Given the description of an element on the screen output the (x, y) to click on. 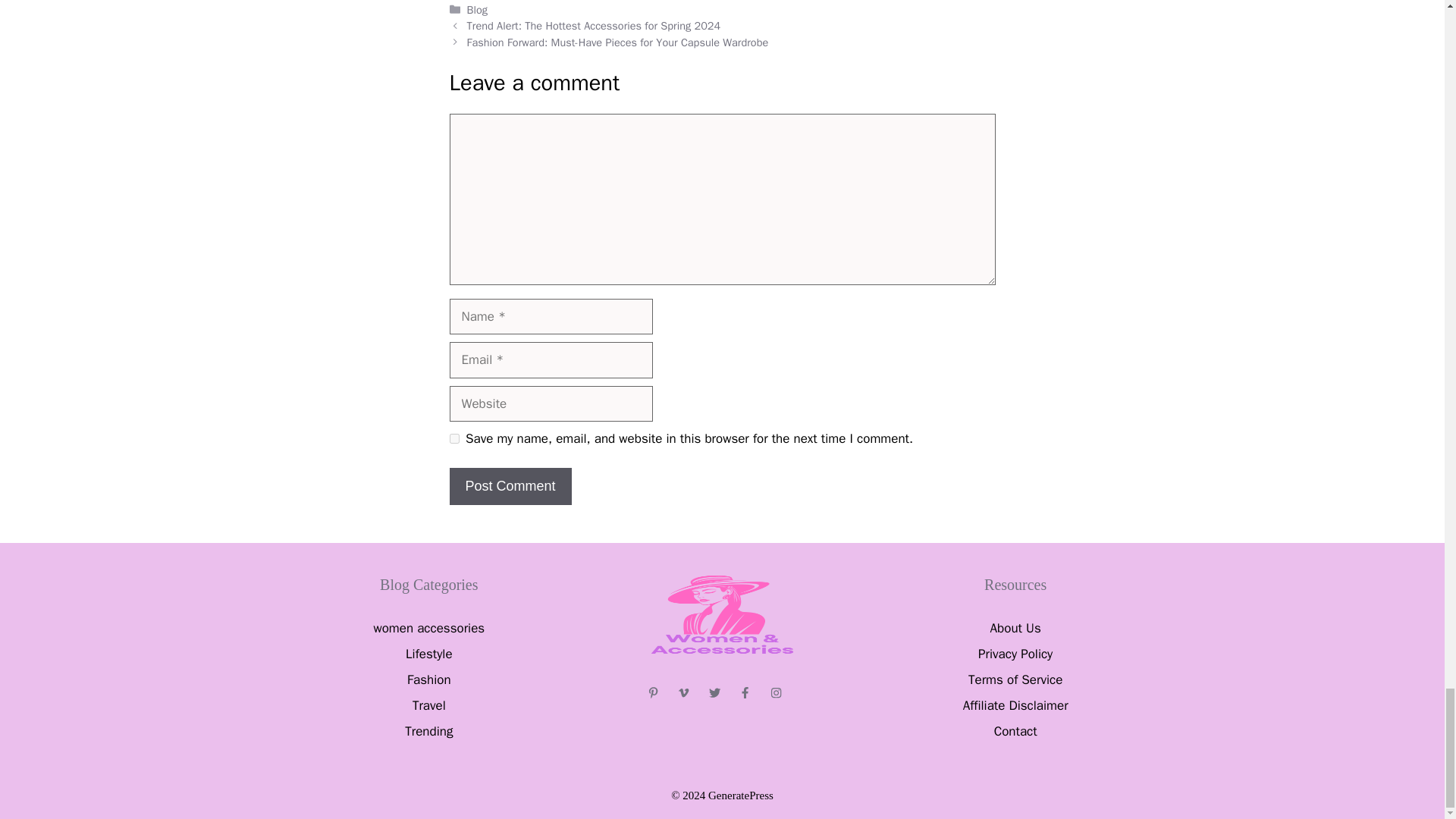
Blog (477, 9)
Fashion Forward: Must-Have Pieces for Your Capsule Wardrobe (617, 42)
Trend Alert: The Hottest Accessories for Spring 2024 (593, 25)
yes (453, 438)
Post Comment (509, 486)
